Given the description of an element on the screen output the (x, y) to click on. 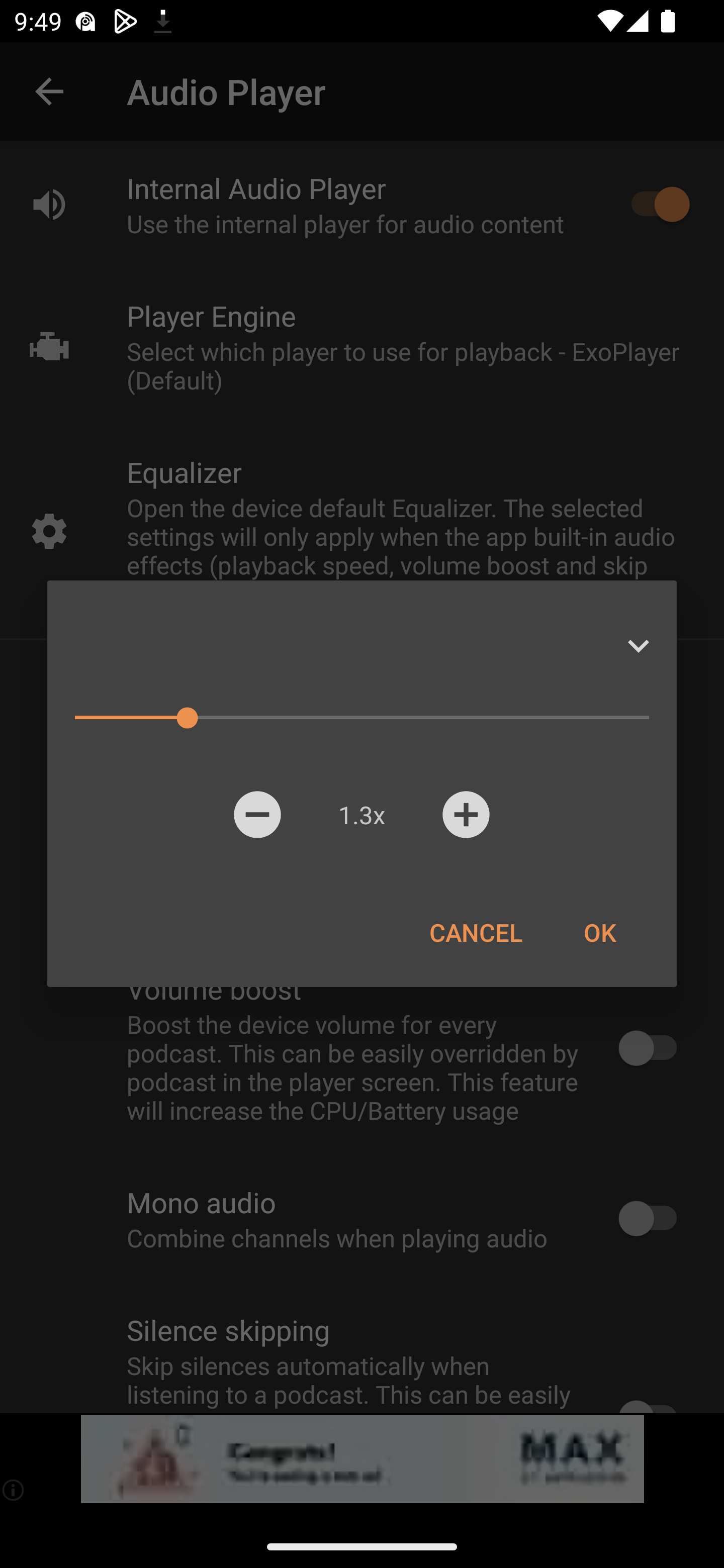
Expand (637, 645)
1.3x (361, 814)
CANCEL (475, 932)
OK (599, 932)
